Given the description of an element on the screen output the (x, y) to click on. 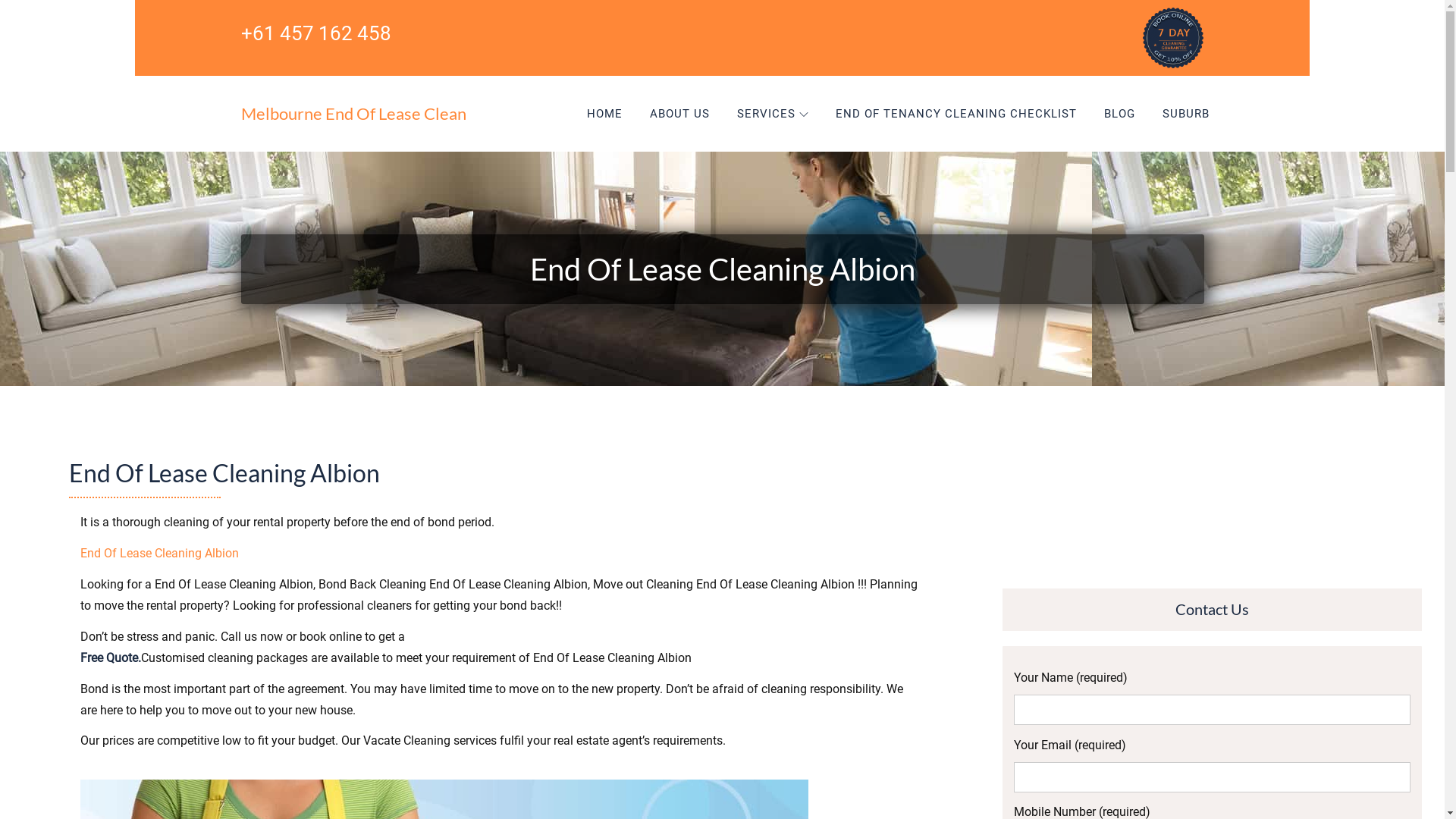
HOME Element type: text (604, 113)
Melbourne End Of Lease Clean Element type: text (353, 114)
BLOG Element type: text (1119, 113)
ABOUT US Element type: text (678, 113)
SERVICES Element type: text (772, 113)
End Of Lease Cleaning Albion Element type: text (159, 553)
END OF TENANCY CLEANING CHECKLIST Element type: text (956, 113)
SUBURB Element type: text (1185, 113)
+61 457 162 458 Element type: text (316, 25)
